Given the description of an element on the screen output the (x, y) to click on. 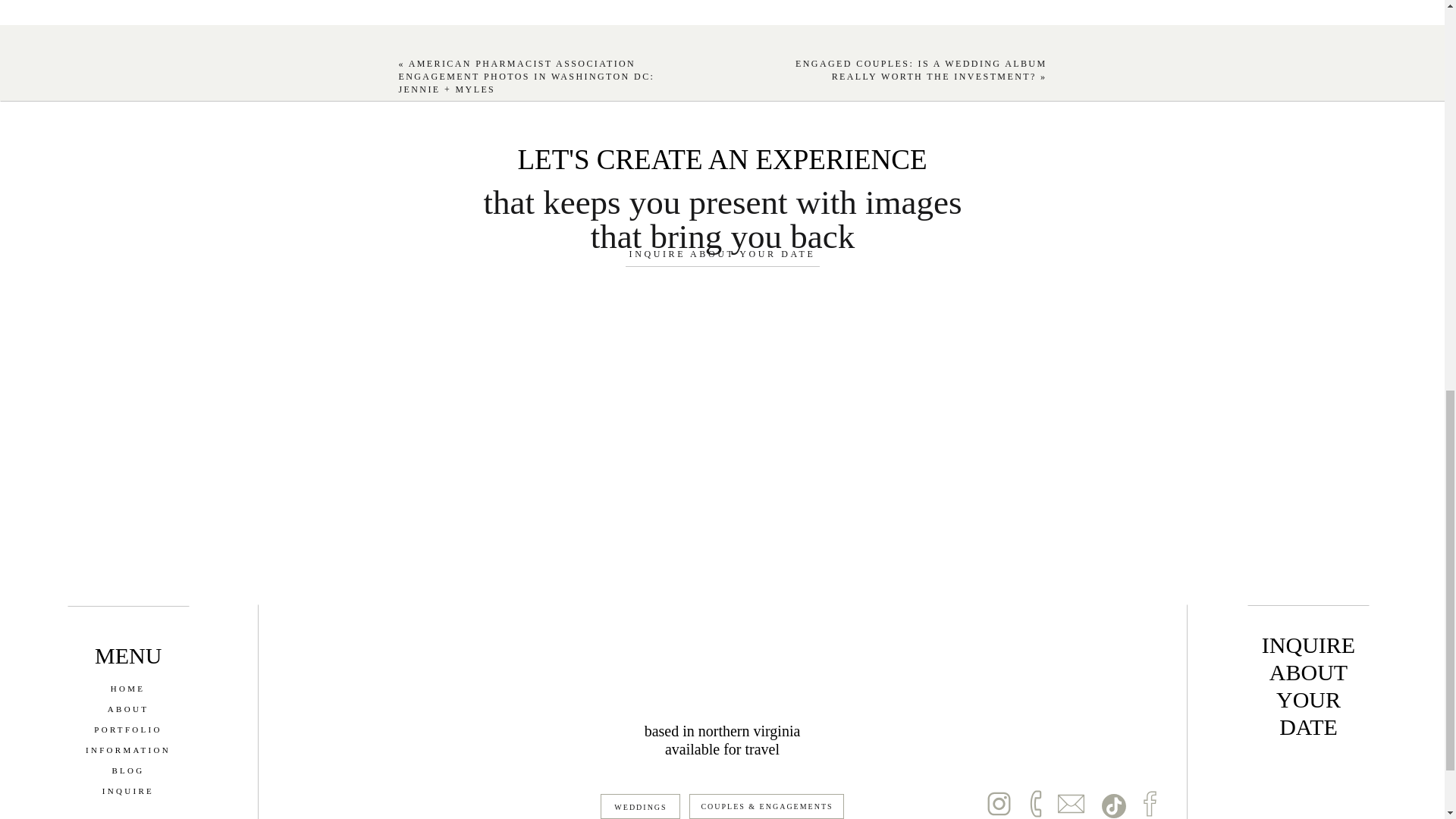
LET'S CREATE AN EXPERIENCE (722, 162)
INQUIRE (128, 792)
PORTFOLIO (127, 730)
ABOUT (128, 710)
INQUIRE ABOUT YOUR DATE (722, 257)
BLOG (128, 771)
HOME (127, 689)
INFORMATION (128, 751)
